Given the description of an element on the screen output the (x, y) to click on. 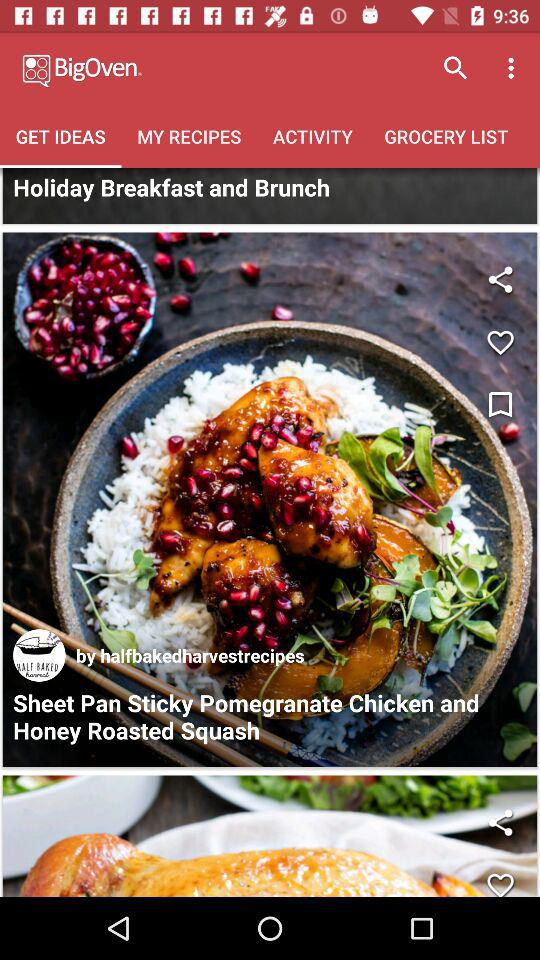
recipe image (269, 499)
